Given the description of an element on the screen output the (x, y) to click on. 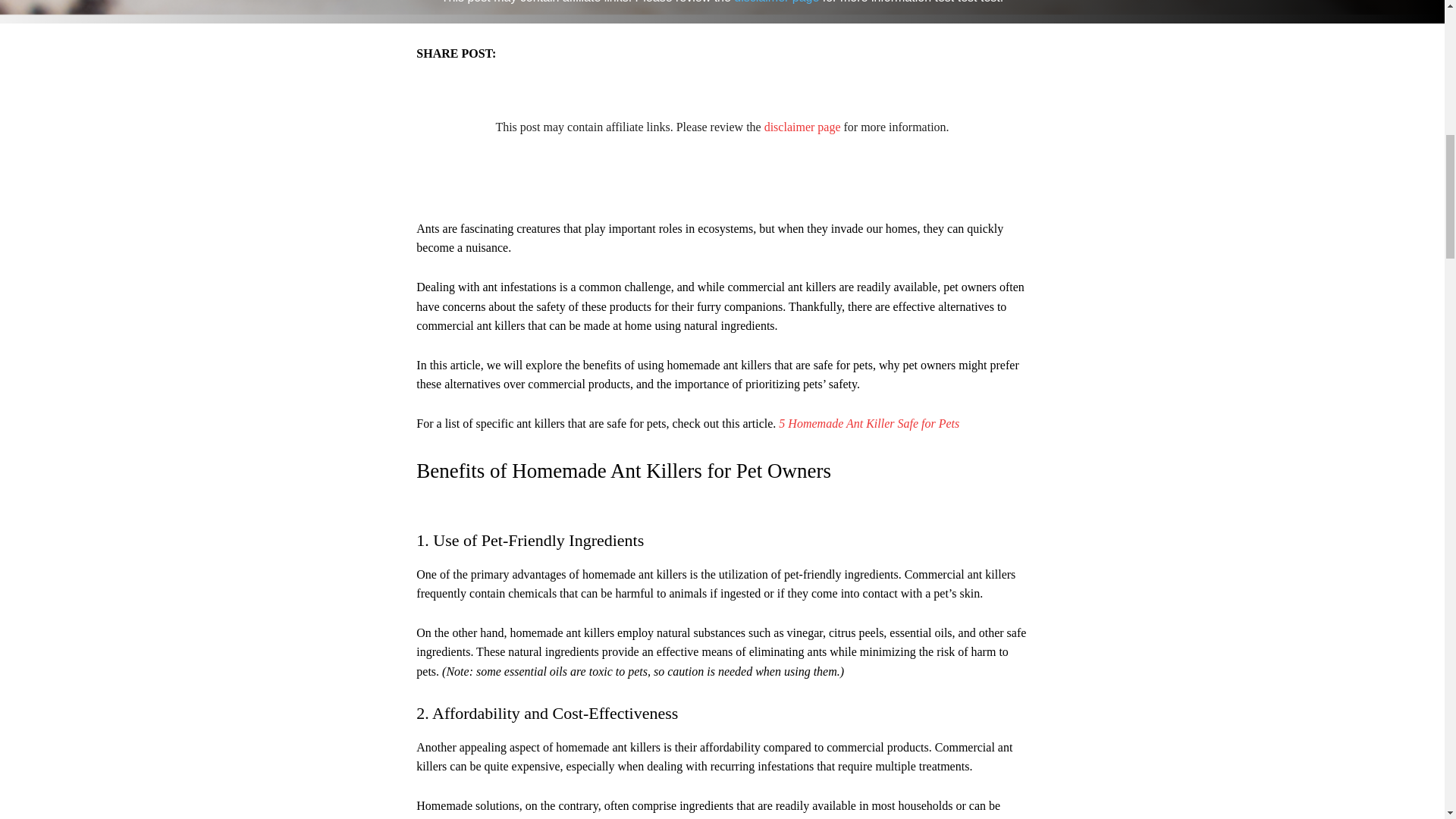
disclaimer page (802, 126)
disclaimer page (775, 2)
5 Homemade Ant Killer Safe for Pets (868, 422)
